Given the description of an element on the screen output the (x, y) to click on. 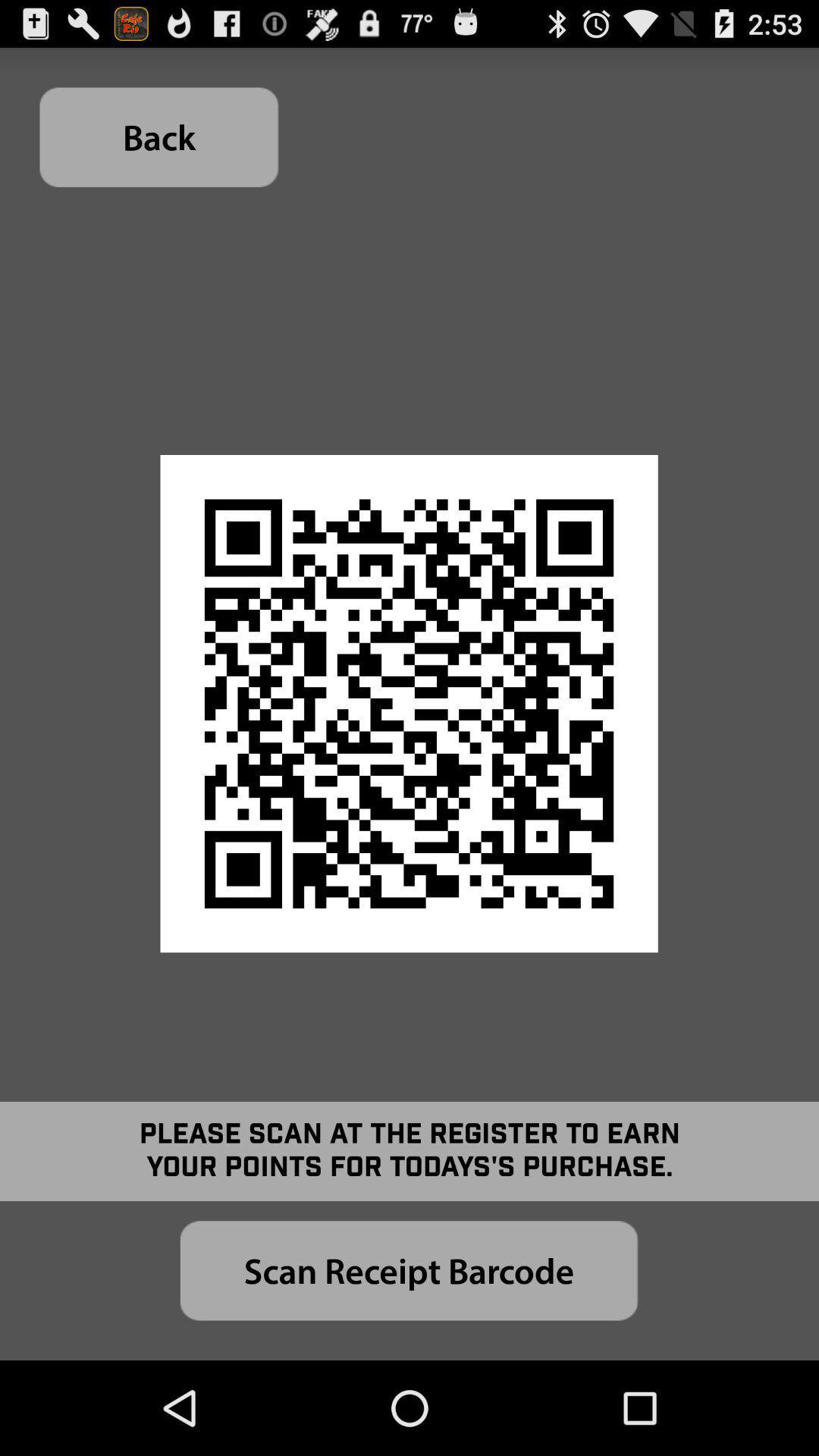
turn on icon below the please scan at icon (409, 1270)
